Given the description of an element on the screen output the (x, y) to click on. 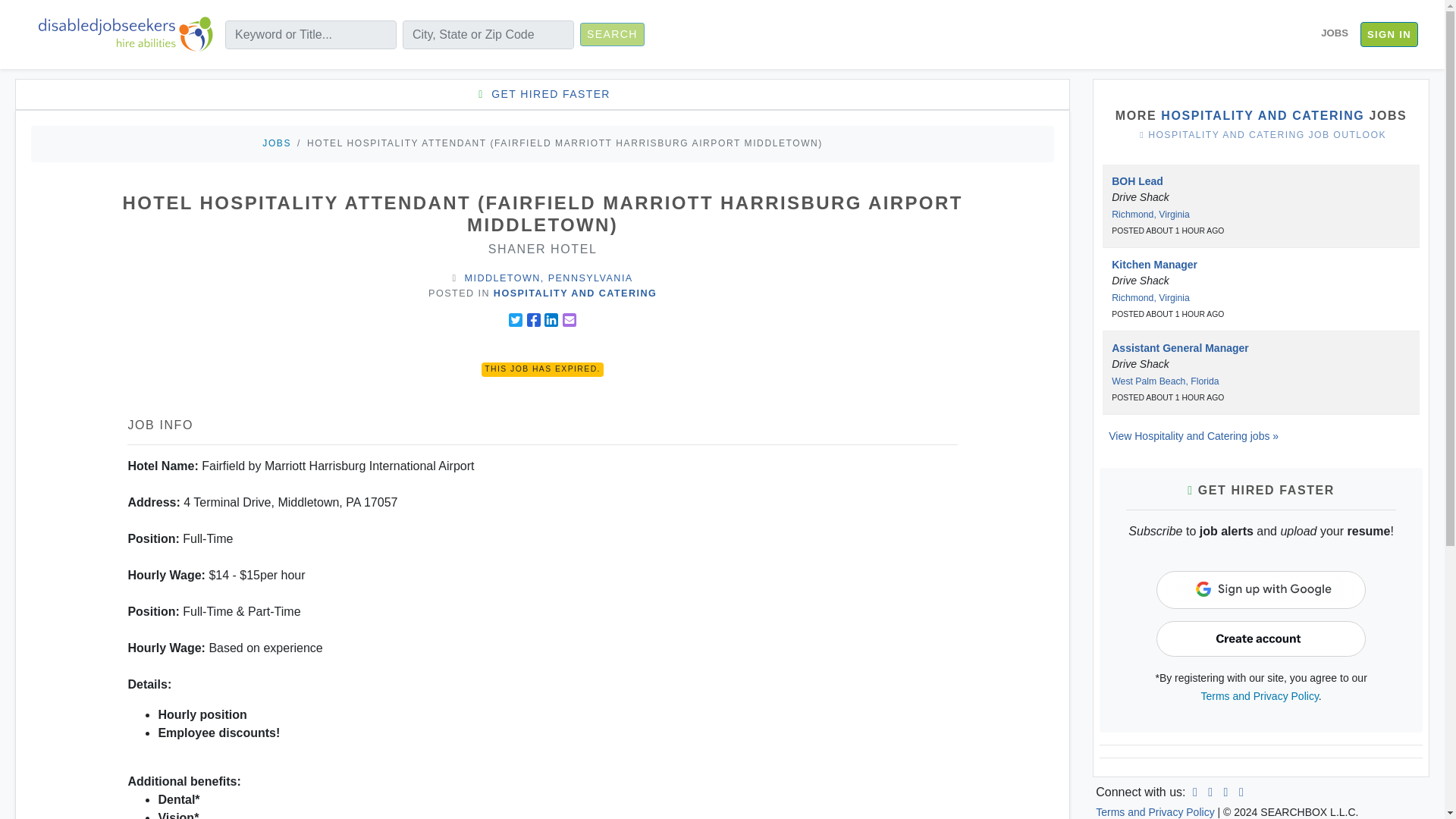
JOBS (1334, 33)
Assistant General Manager (1180, 347)
Share to Linkedin (550, 319)
SEARCH (612, 33)
West Palm Beach, Florida (1165, 380)
Kitchen Manager (1154, 264)
Link to LinkedIn (1195, 791)
Terms and Privacy Policy (1260, 695)
GET HIRED FASTER (541, 94)
BOH Lead (1137, 181)
